Given the description of an element on the screen output the (x, y) to click on. 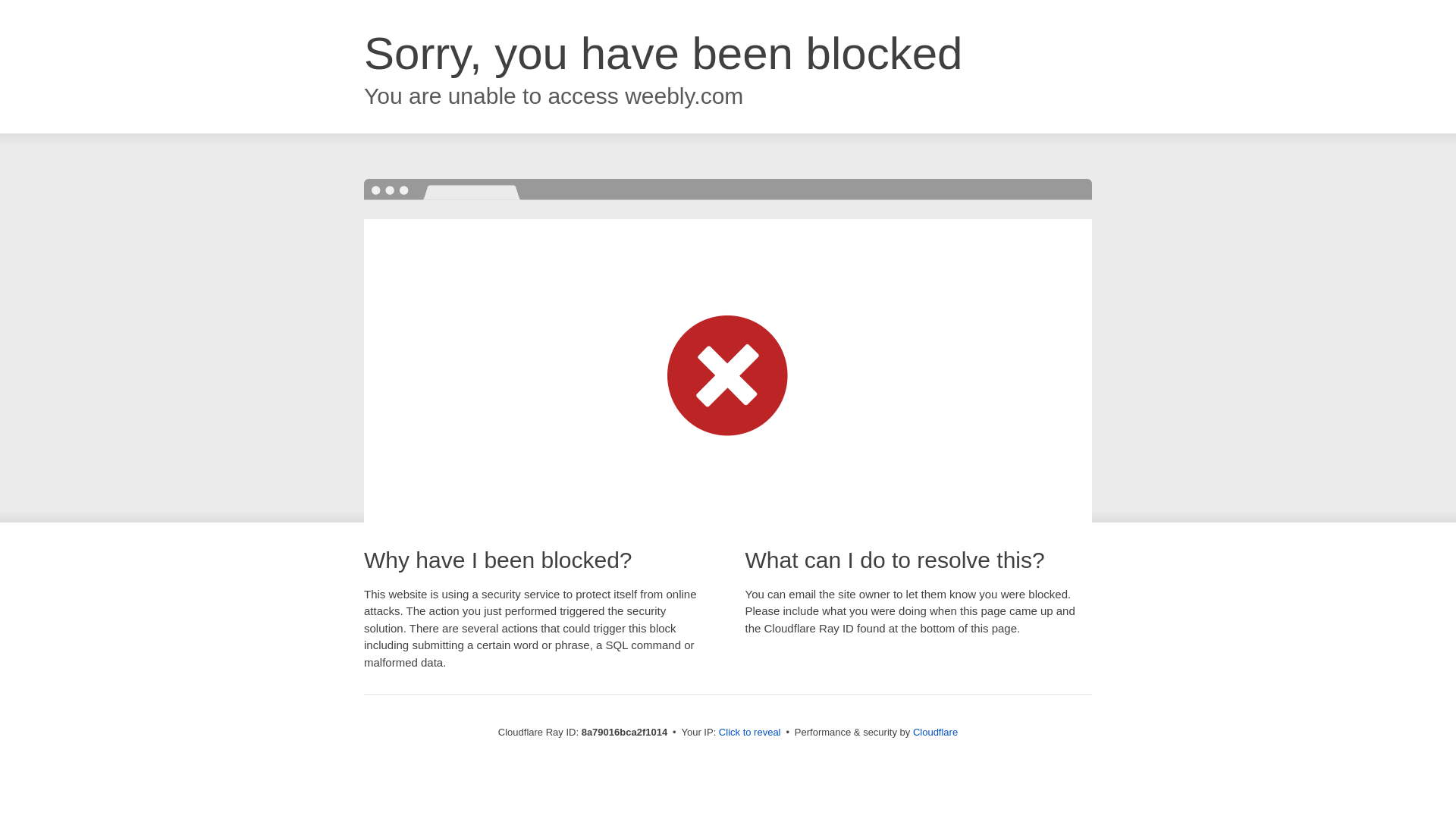
Click to reveal (749, 732)
Cloudflare (935, 731)
